Given the description of an element on the screen output the (x, y) to click on. 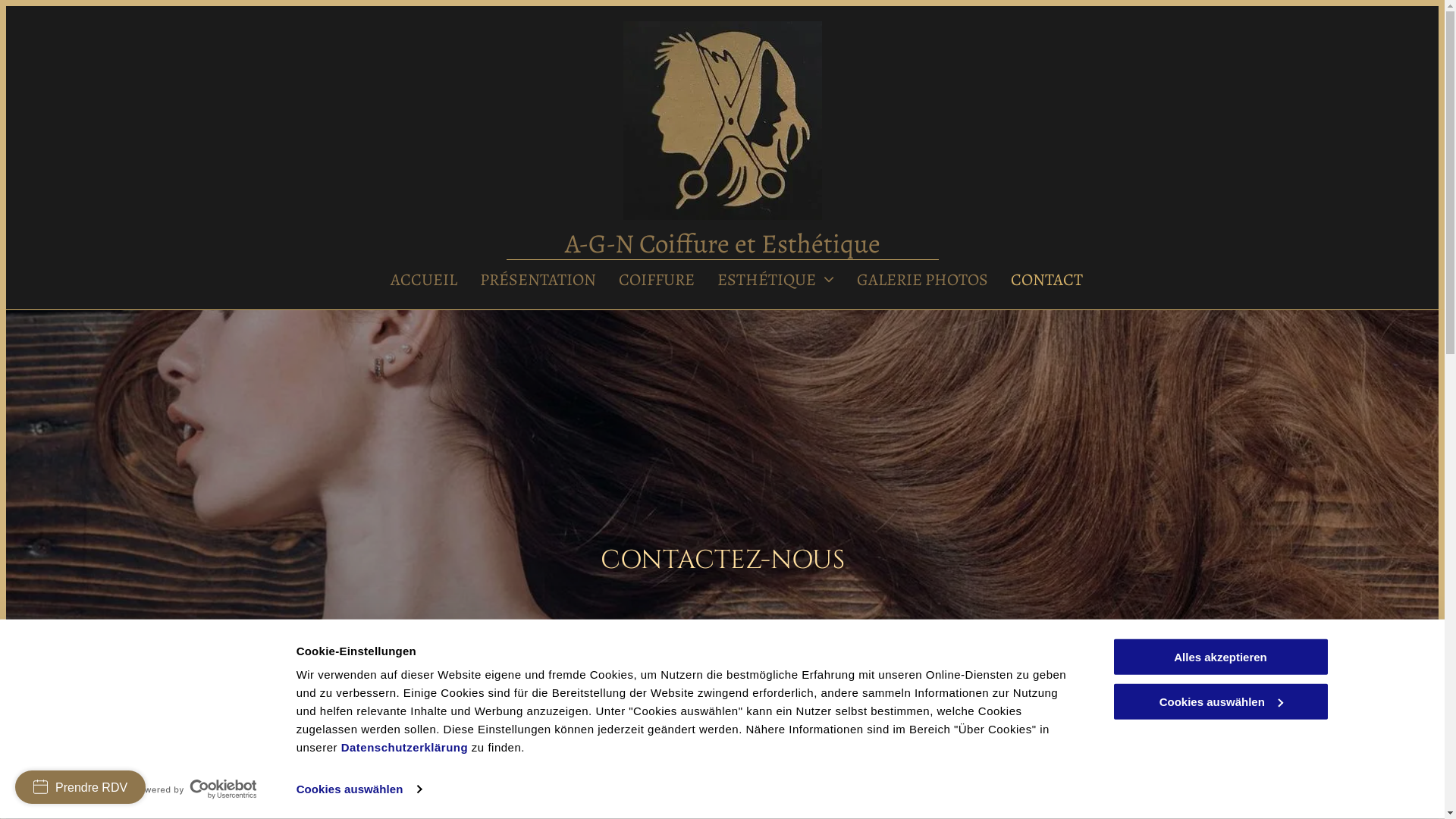
COIFFURE Element type: text (656, 279)
GALERIE PHOTOS Element type: text (922, 279)
Alles akzeptieren Element type: text (1219, 656)
CONTACT Element type: text (1046, 279)
ACCUEIL Element type: text (422, 279)
Prendre RDV Element type: text (80, 786)
